Given the description of an element on the screen output the (x, y) to click on. 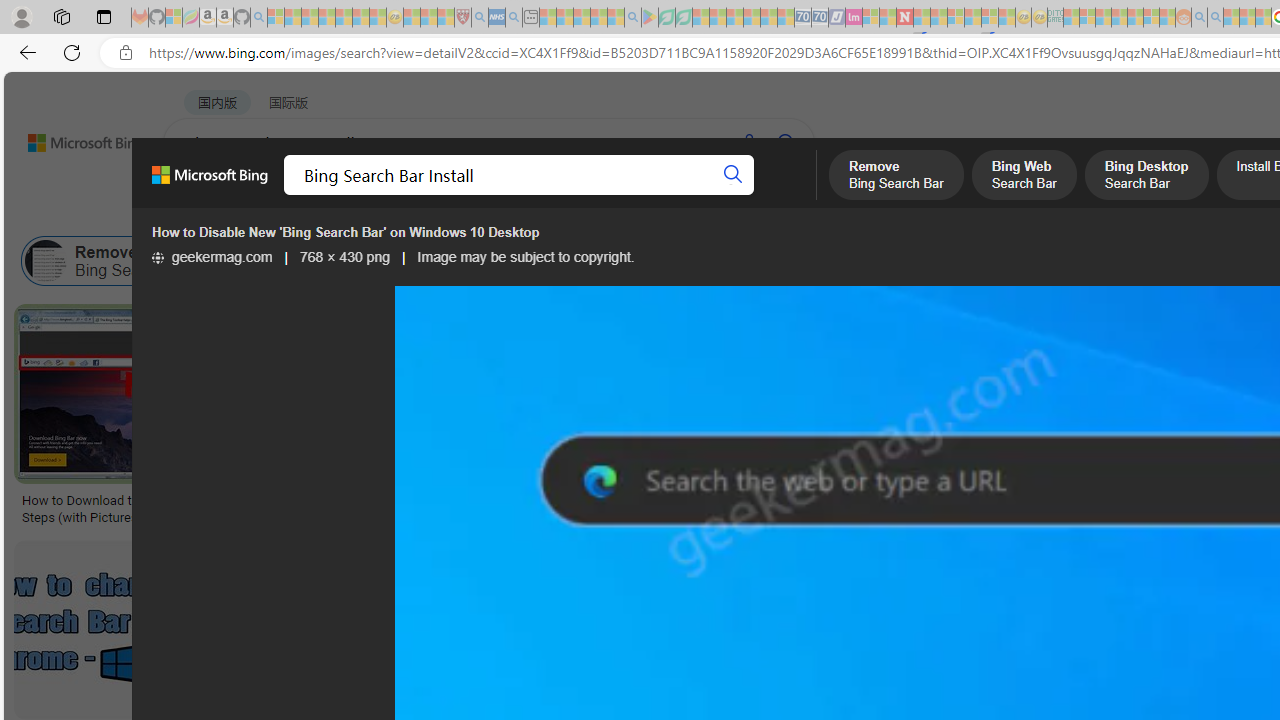
Bing Desktop Search Bar (408, 260)
MORE (793, 195)
Bing Search Bar Settings (754, 260)
